Given the description of an element on the screen output the (x, y) to click on. 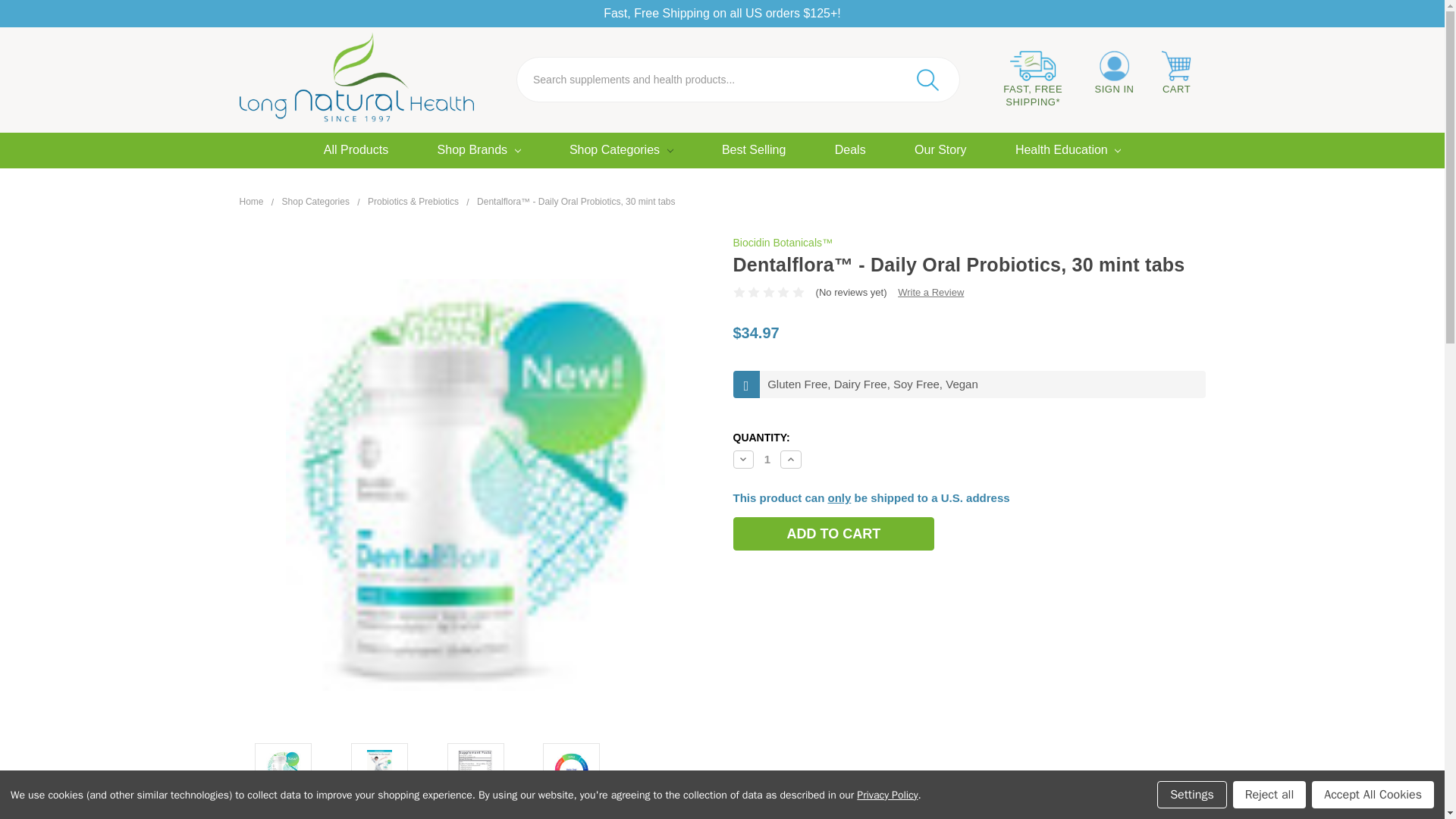
CART (1176, 73)
SIGN IN (1113, 73)
Add to Cart (833, 533)
Shop Brands (478, 150)
1 (767, 459)
All Products (356, 150)
Shop Categories (620, 150)
